Given the description of an element on the screen output the (x, y) to click on. 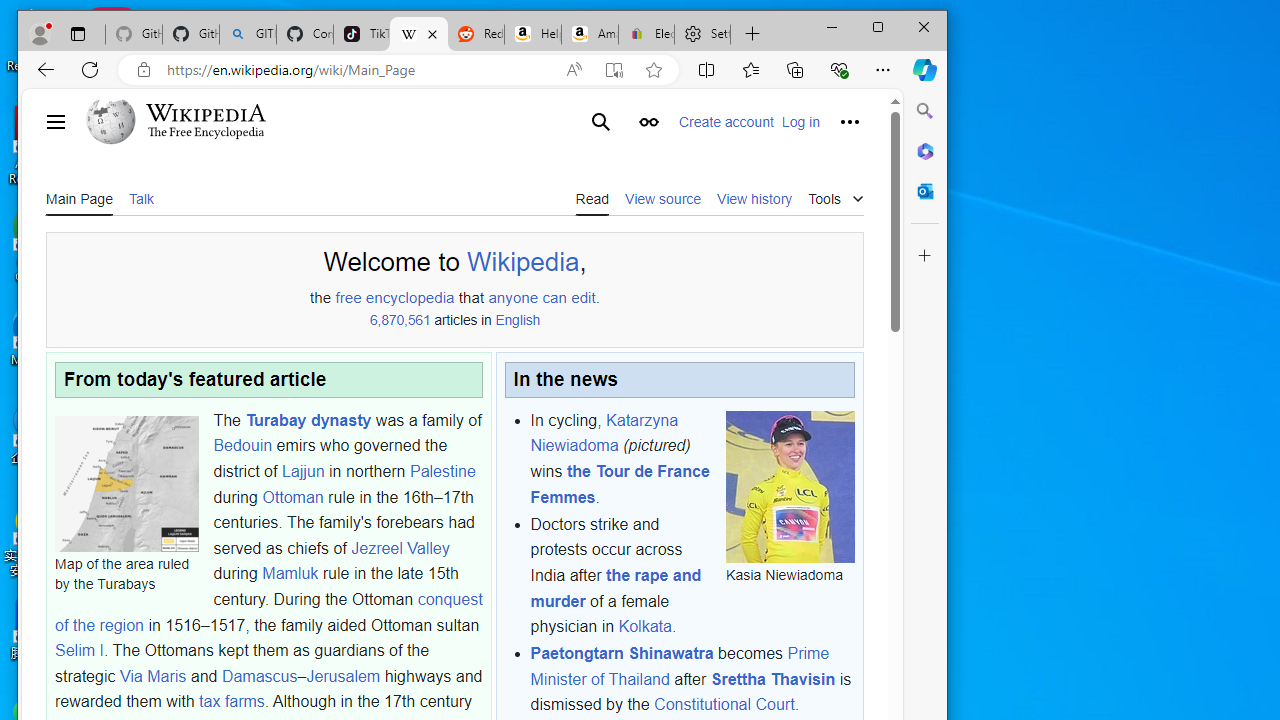
Reddit - Dive into anything (476, 34)
6,870,561 (399, 321)
Amazon.com: Deals (589, 34)
TikTok (362, 34)
Wikipedia (523, 262)
Main Page (79, 197)
Tools (835, 196)
